Given the description of an element on the screen output the (x, y) to click on. 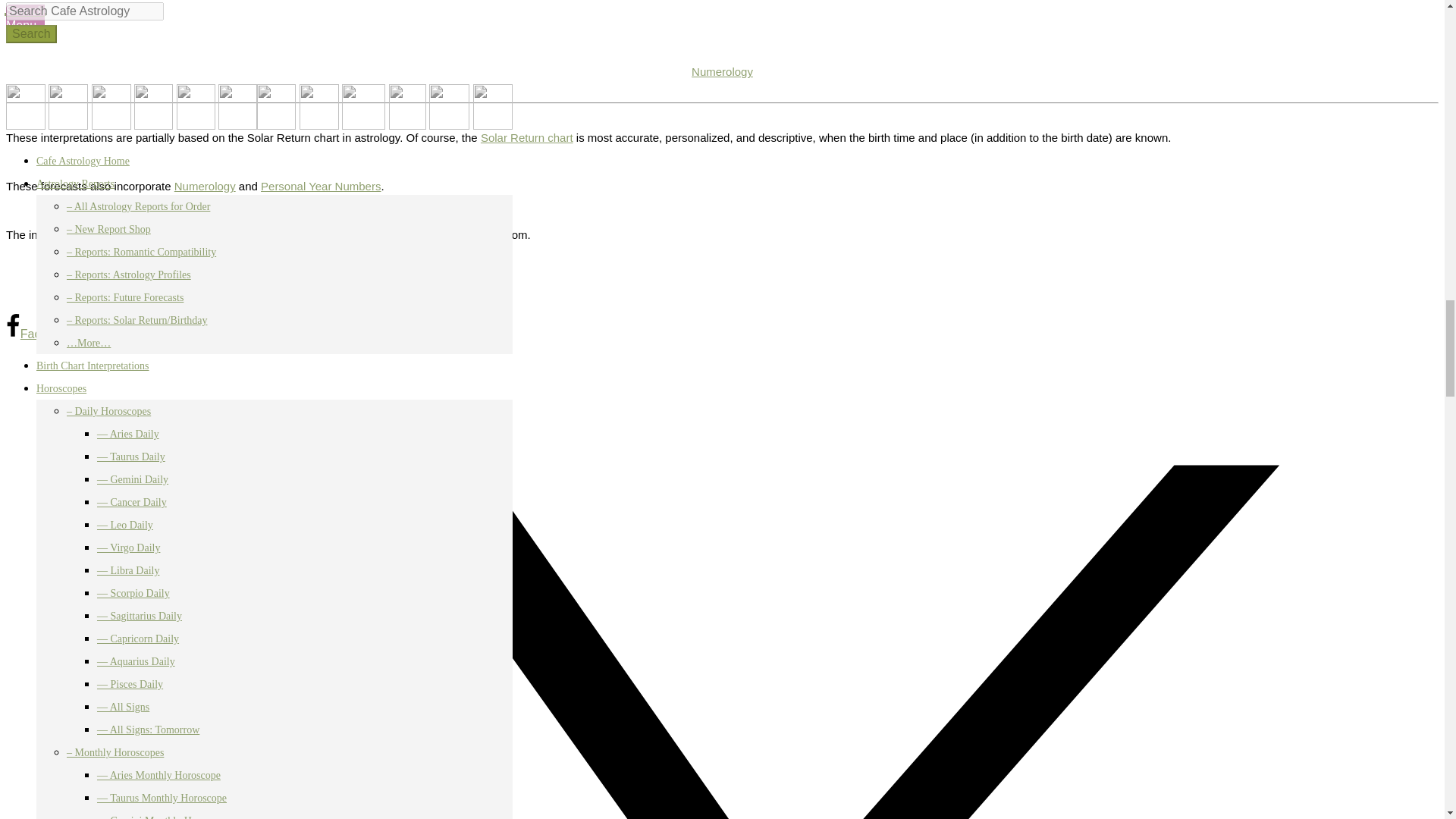
Pin (127, 333)
Like on Facebook (92, 333)
Facebook (39, 333)
Numerology (721, 71)
Numerology (204, 185)
Solar Return chart (526, 137)
Personal Year Numbers (320, 185)
Share on Pinterest (127, 333)
Like (92, 333)
Share on Facebook (39, 333)
